Given the description of an element on the screen output the (x, y) to click on. 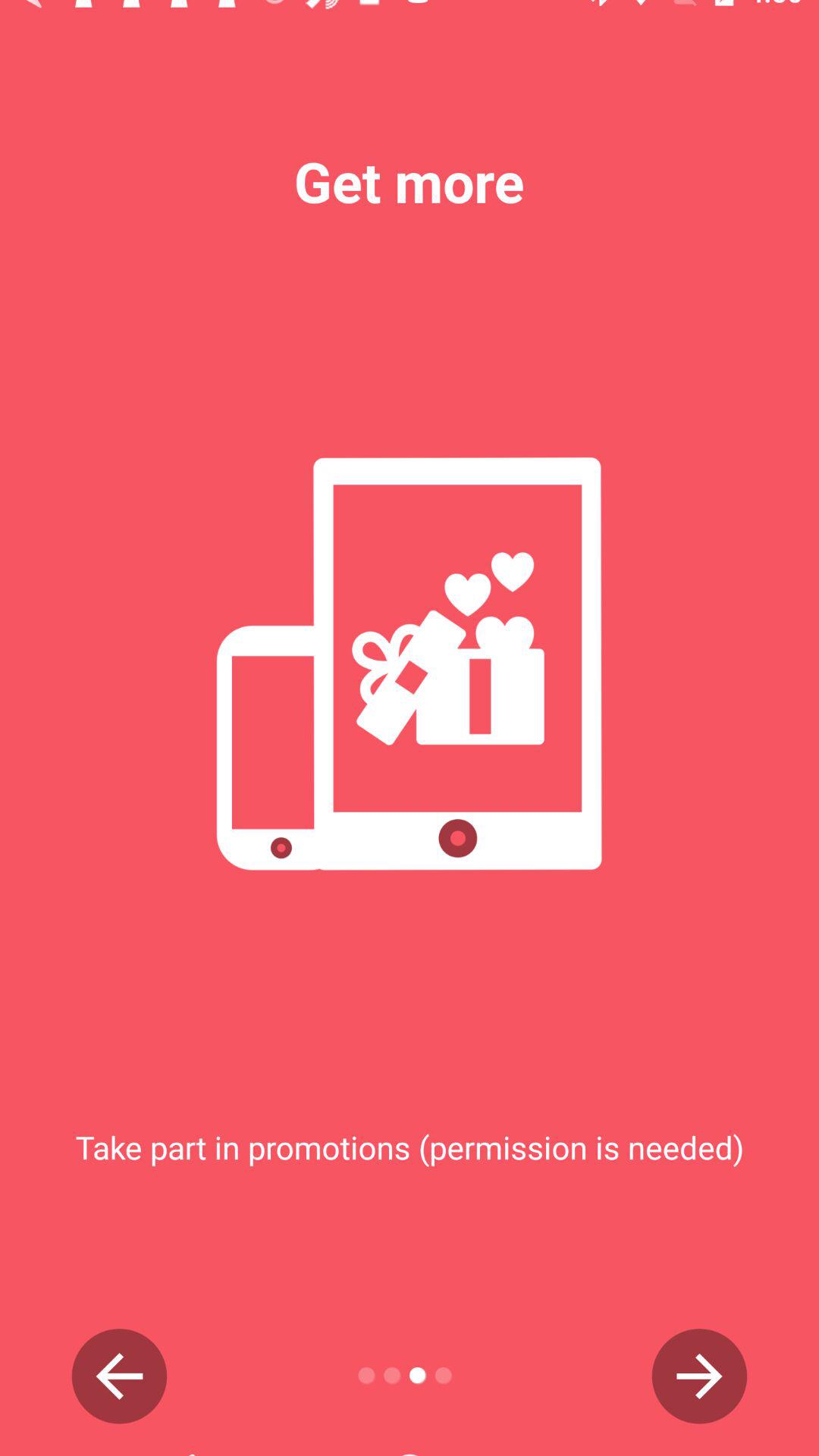
go back (119, 1376)
